Given the description of an element on the screen output the (x, y) to click on. 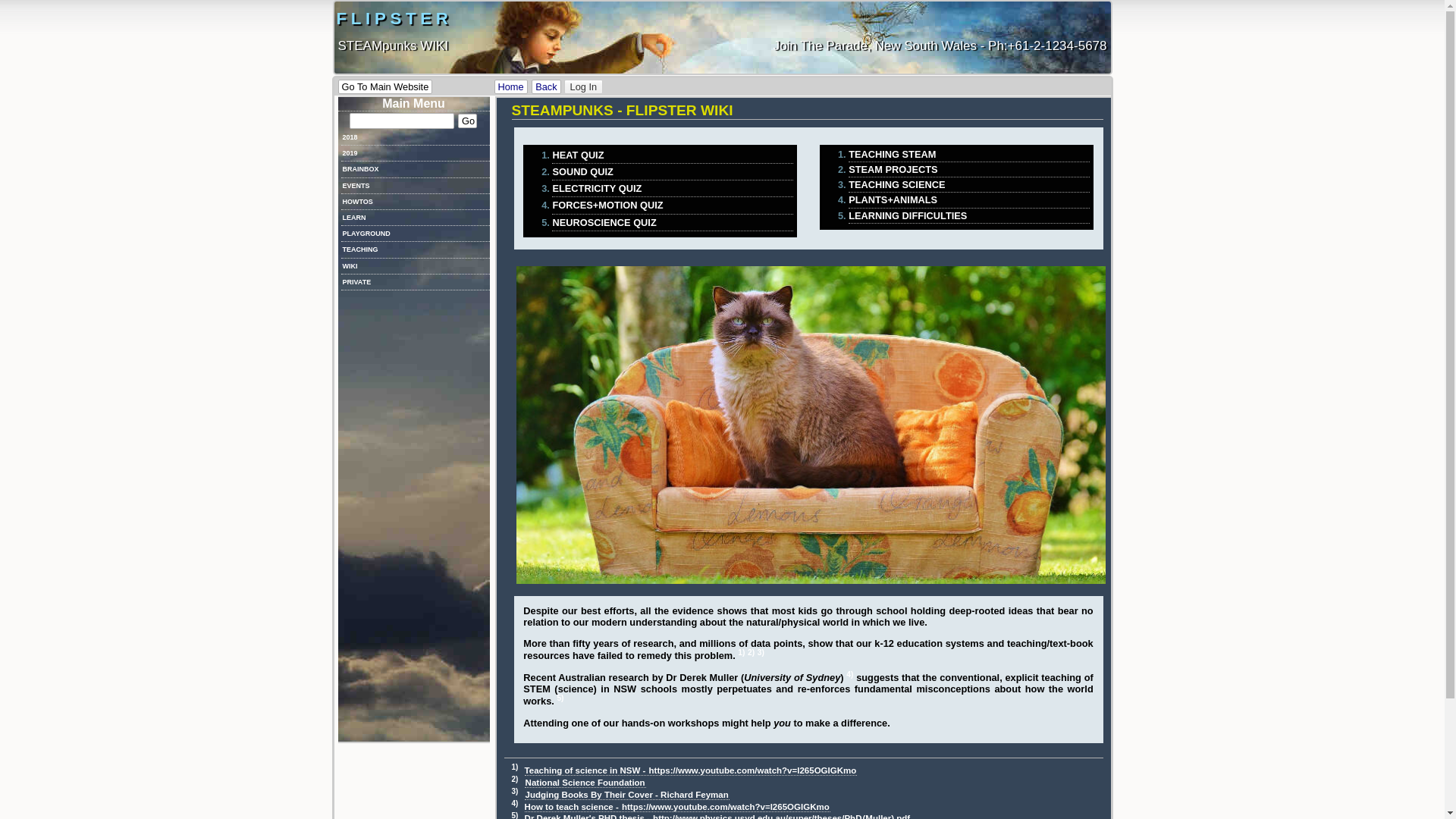
2) Element type: text (514, 779)
Go To Main Website Element type: text (385, 86)
public:cat-sofa-780x420.jpg Element type: hover (810, 423)
Go Element type: text (467, 120)
Back Element type: text (545, 86)
LEARNING DIFFICULTIES Element type: text (968, 215)
"You looking at me?' Element type: hover (809, 424)
4) Element type: text (514, 803)
HOWTOS Element type: text (415, 201)
1) Element type: text (514, 766)
2) Element type: text (750, 652)
[F] Element type: hover (400, 120)
Judging Books By Their Cover - Richard Feyman Element type: text (626, 794)
Search Element type: hover (467, 120)
EVENTS Element type: text (415, 185)
National Science Foundation Element type: text (585, 782)
TEACHING SCIENCE Element type: text (968, 184)
Home Element type: text (510, 86)
STEAMPUNKS WIKI wiki home page Element type: hover (510, 86)
HEAT QUIZ Element type: text (672, 155)
NEUROSCIENCE QUIZ Element type: text (672, 222)
PRIVATE Element type: text (415, 282)
Log In Element type: text (583, 86)
FORCES+MOTION QUIZ Element type: text (672, 205)
2018 Element type: text (415, 137)
WIKI Element type: text (415, 266)
STEAMPUNKS WIKI main website home page Element type: hover (385, 86)
BRAINBOX Element type: text (415, 169)
TEACHING STEAM Element type: text (968, 154)
1) Element type: text (740, 652)
PLAYGROUND Element type: text (415, 233)
4) Element type: text (849, 674)
PLANTS+ANIMALS Element type: text (968, 199)
3) Element type: text (514, 791)
2019 Element type: text (415, 153)
5) Element type: text (559, 697)
SOUND QUIZ Element type: text (672, 171)
https://www.youtube.com/watch?v=l265OGIGKmo Element type: text (752, 770)
https://www.youtube.com/watch?v=l265OGIGKmo Element type: text (725, 806)
LEARN Element type: text (415, 217)
3) Element type: text (760, 652)
TEACHING Element type: text (415, 249)
Go back to previous page Element type: hover (545, 86)
ELECTRICITY QUIZ Element type: text (672, 188)
STEAM PROJECTS Element type: text (968, 169)
